Given the description of an element on the screen output the (x, y) to click on. 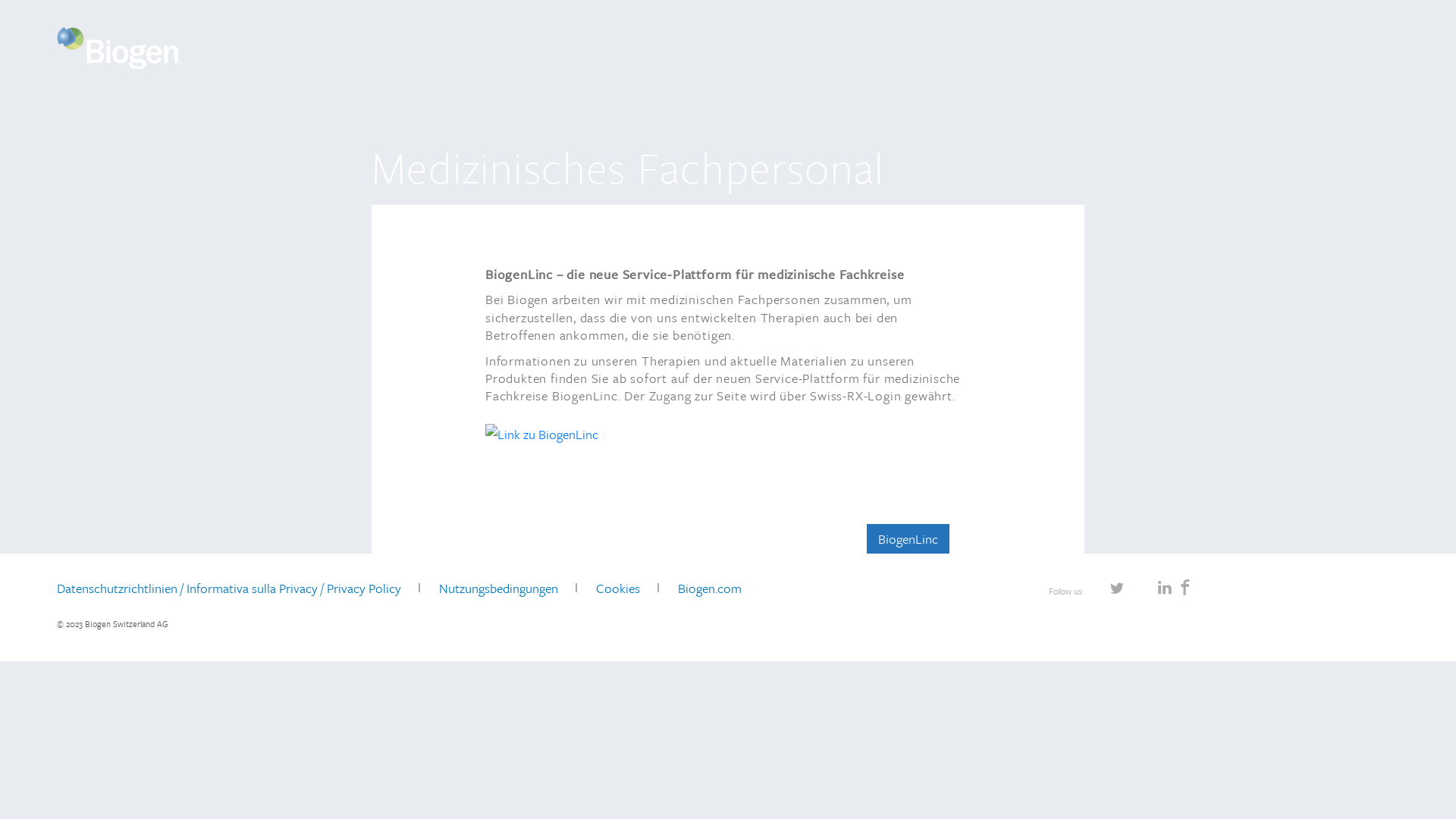
BiogenLinc Element type: text (907, 539)
Cookies Element type: text (618, 587)
Biogen.com Element type: text (709, 587)
Nutzungsbedingungen Element type: text (498, 587)
